Given the description of an element on the screen output the (x, y) to click on. 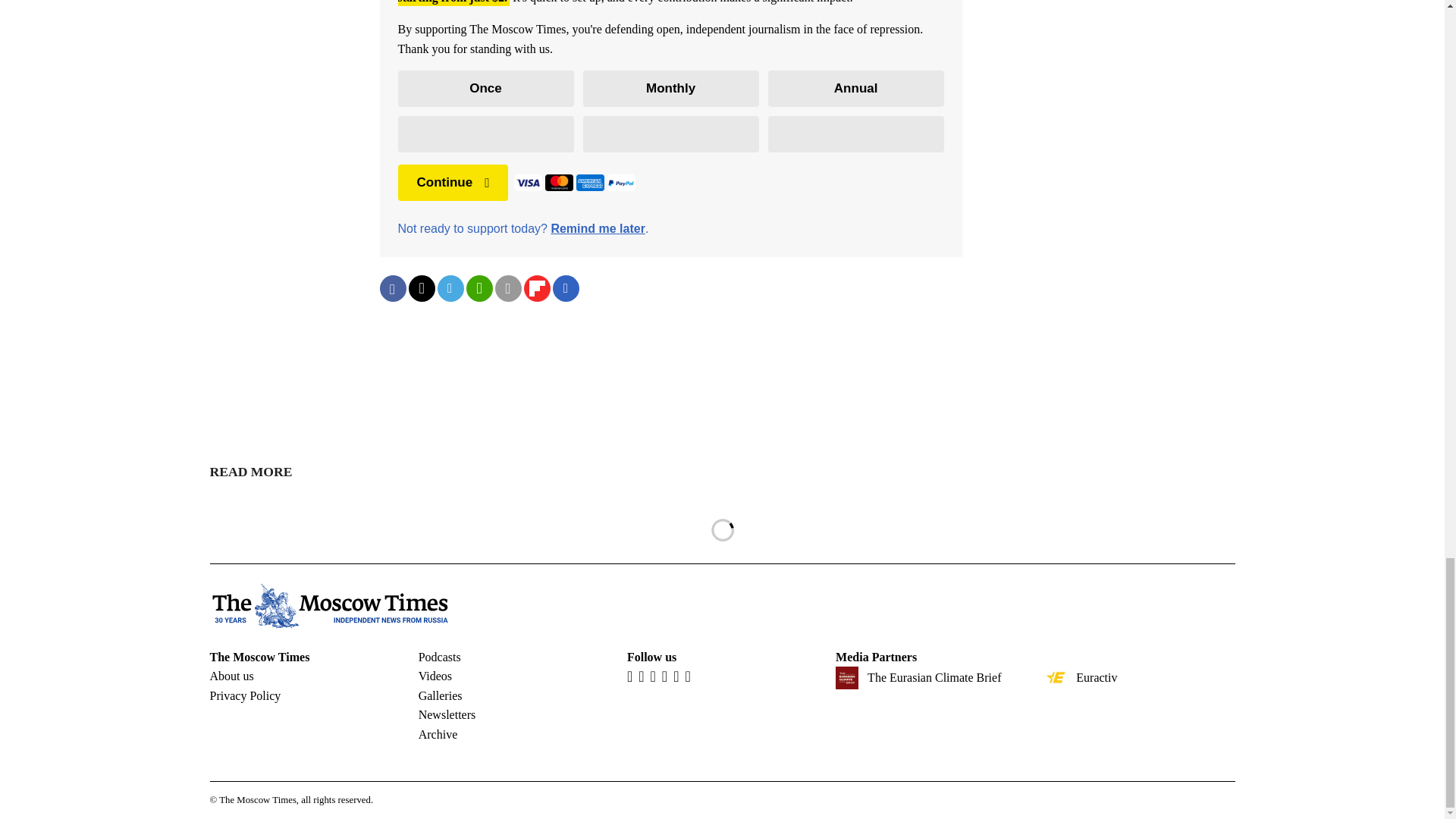
Share on Telegram (449, 288)
Share on Flipboard (536, 288)
Share on Facebook (392, 288)
Share on Twitter (420, 288)
